Given the description of an element on the screen output the (x, y) to click on. 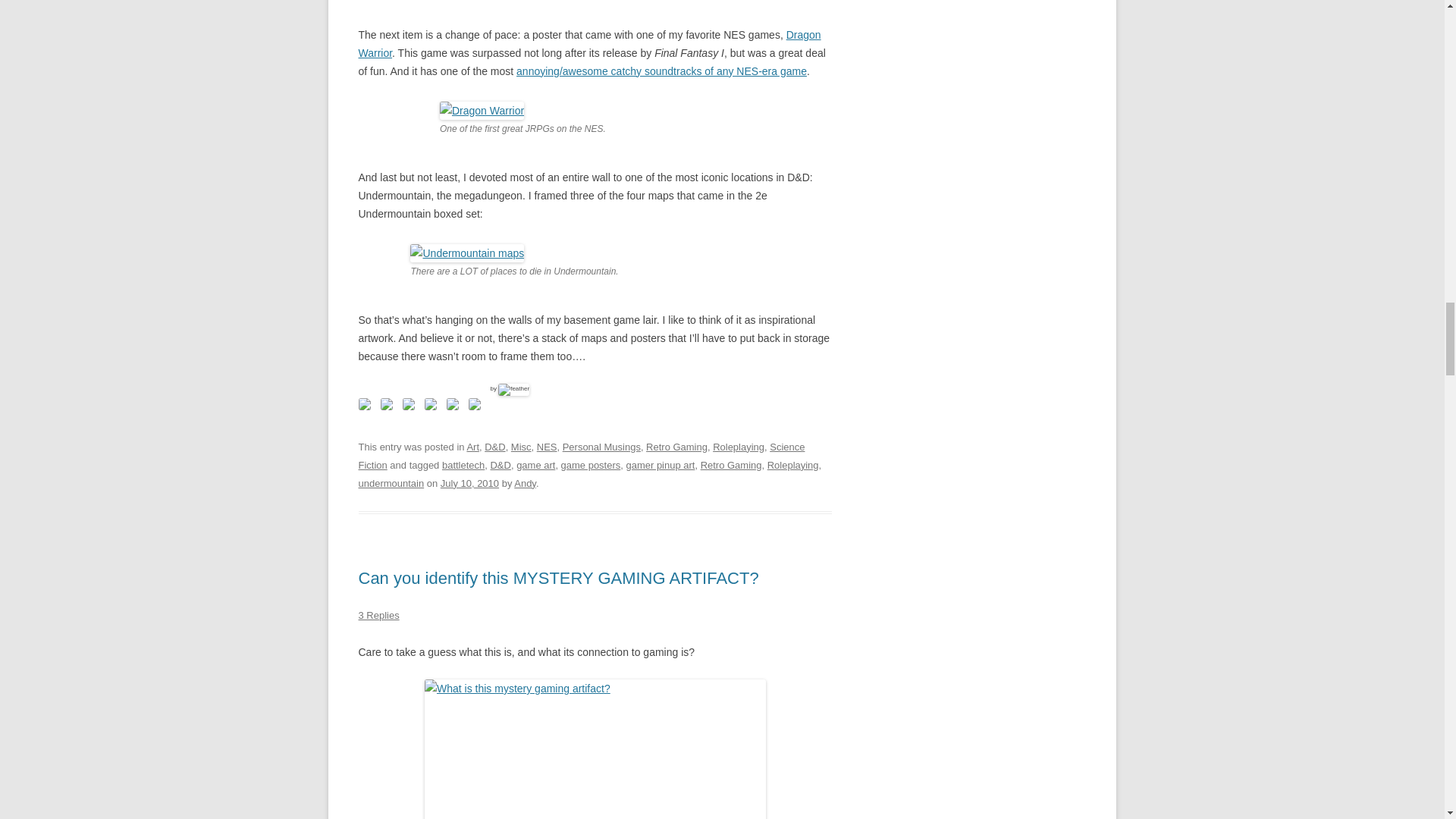
Science Fiction (581, 455)
Personal Musings (601, 446)
by (509, 388)
Art (472, 446)
battletech (463, 464)
Share on Reddit (410, 407)
undermountain-small (467, 253)
dragonwarrior (481, 110)
Roleplaying (738, 446)
Misc (521, 446)
